Given the description of an element on the screen output the (x, y) to click on. 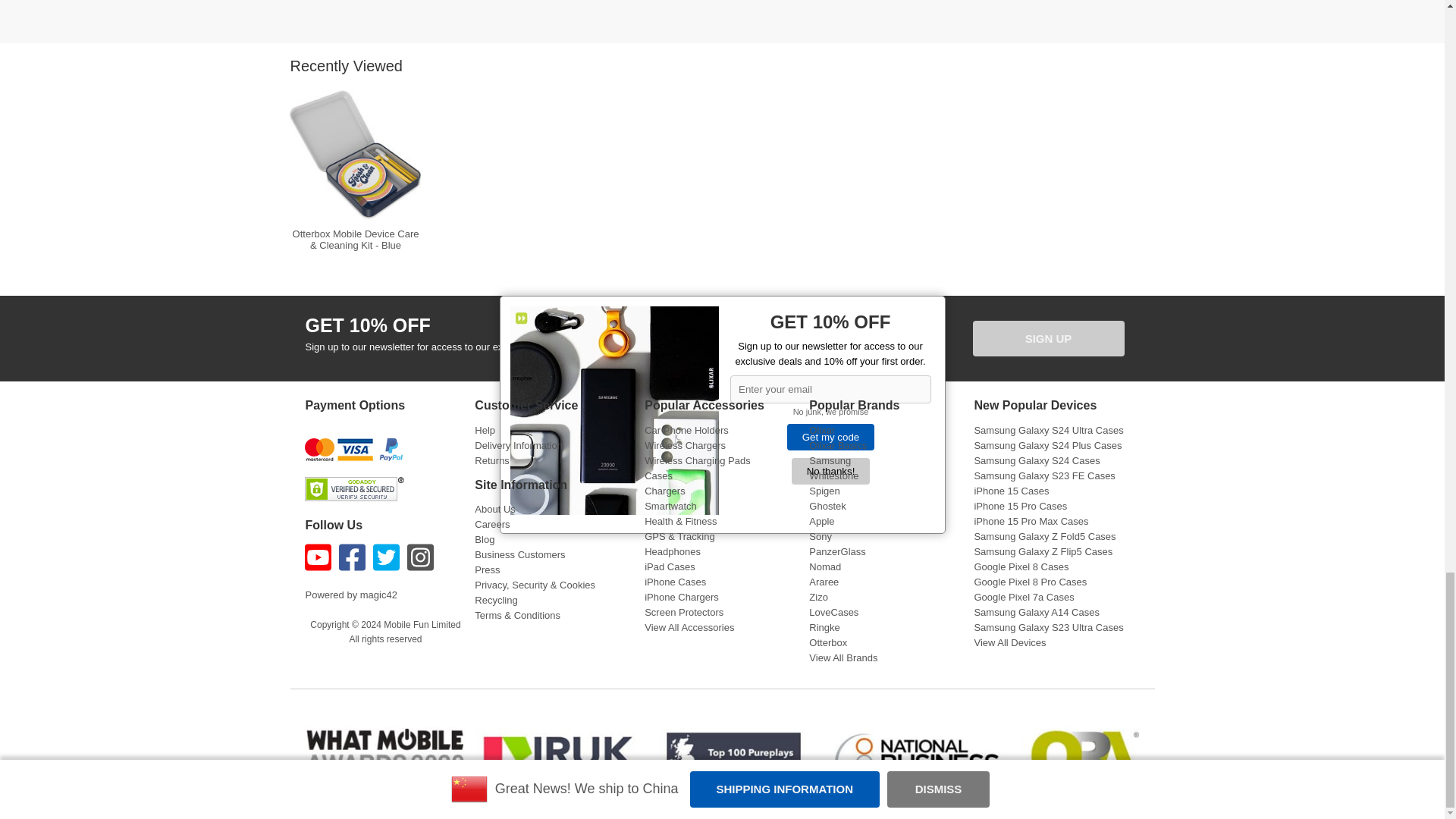
Follow Mobile Fun on Instagram (422, 556)
Follow Mobile Fun on YouTube (319, 556)
Powered by magic42 (350, 594)
Follow Mobile Fun on Twitter (387, 556)
Follow Mobile Fun on Facebook (354, 556)
